Given the description of an element on the screen output the (x, y) to click on. 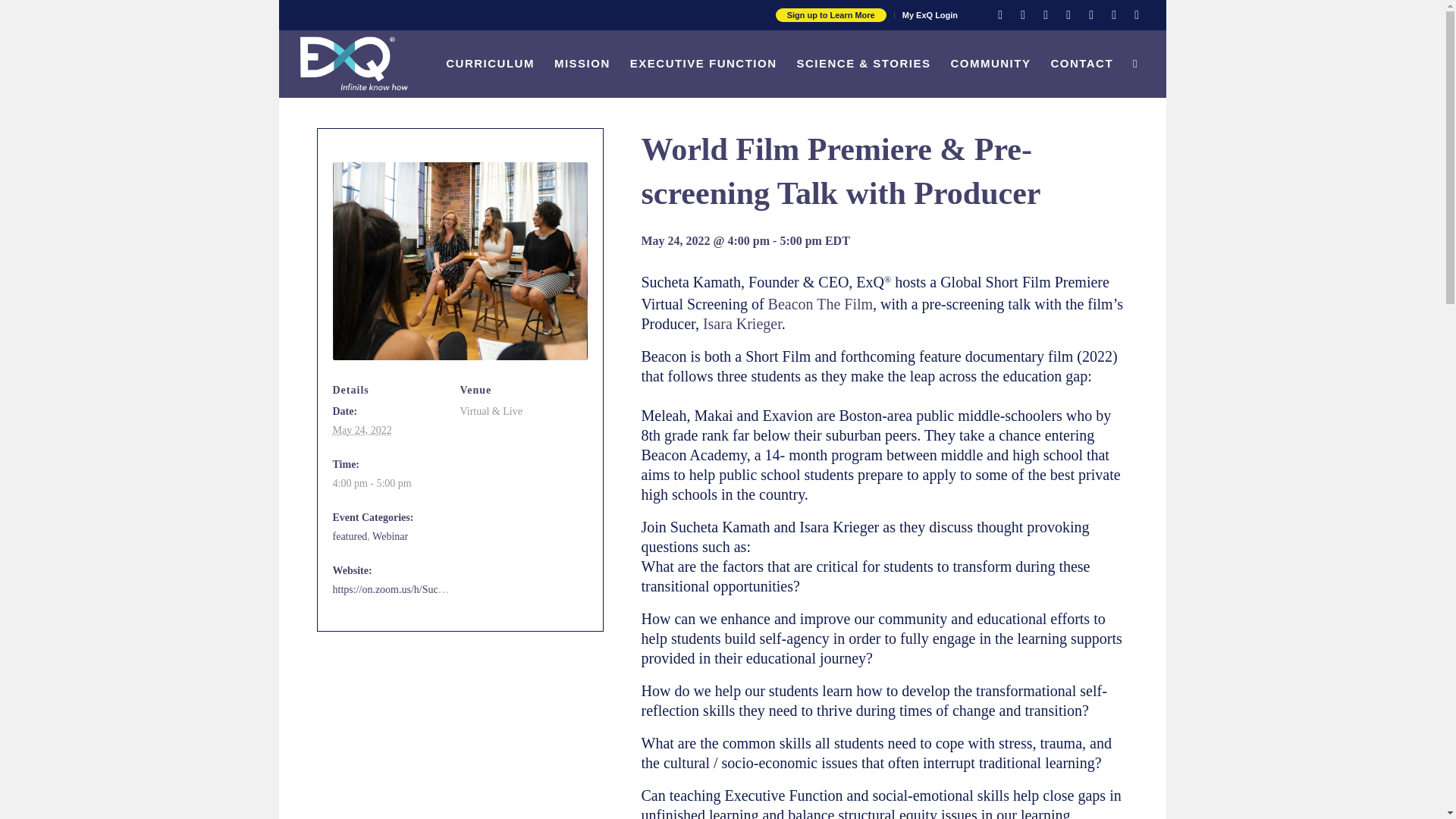
2022-05-24 (390, 483)
EXECUTIVE FUNCTION (703, 63)
MISSION (582, 63)
Isara Krieger (742, 323)
Beacon The Film (820, 303)
Sign up to Learn More (831, 15)
2022-05-24 (361, 430)
CURRICULUM (489, 63)
